Given the description of an element on the screen output the (x, y) to click on. 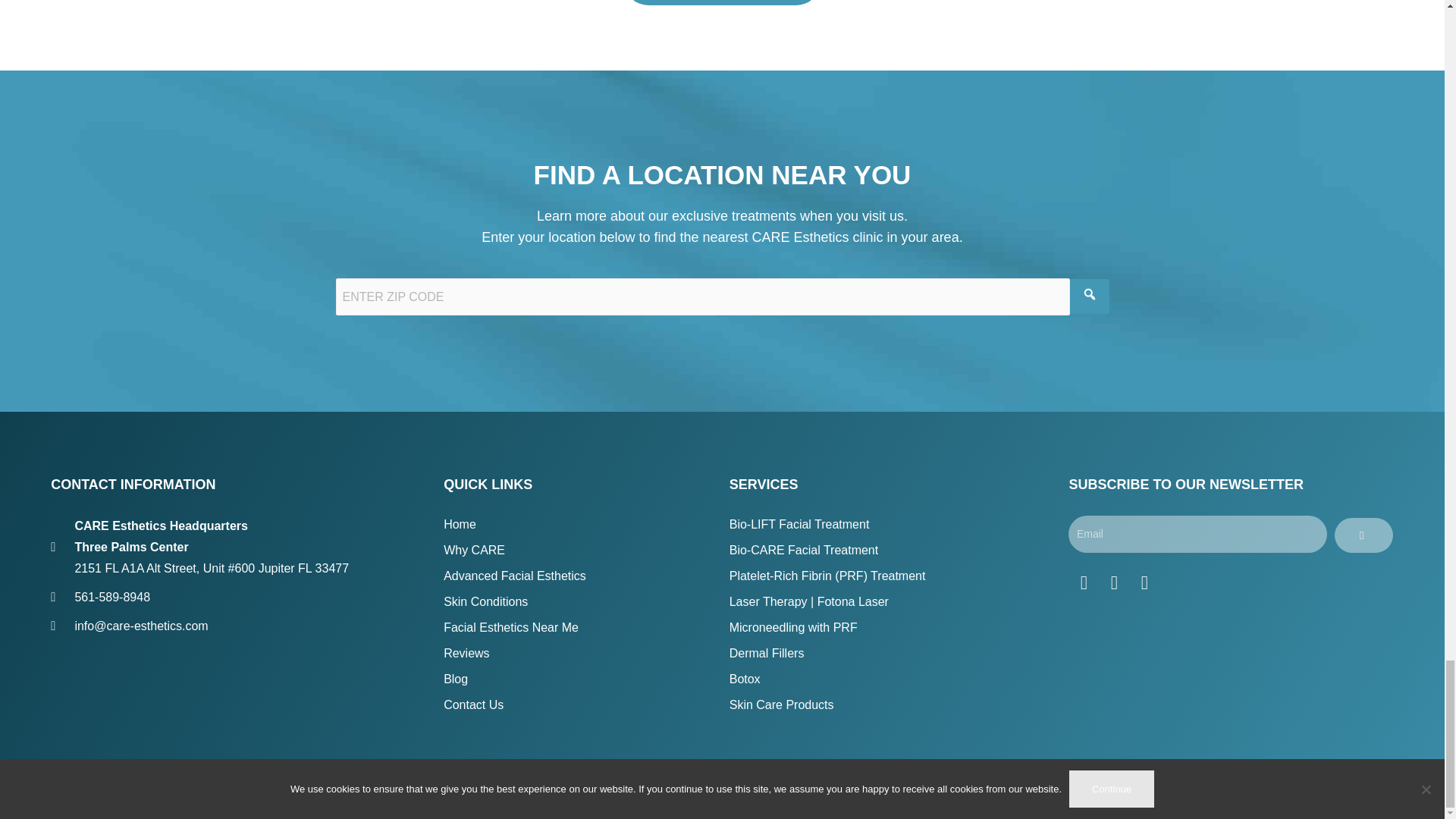
Submit Message (722, 2)
Search (1088, 296)
